Given the description of an element on the screen output the (x, y) to click on. 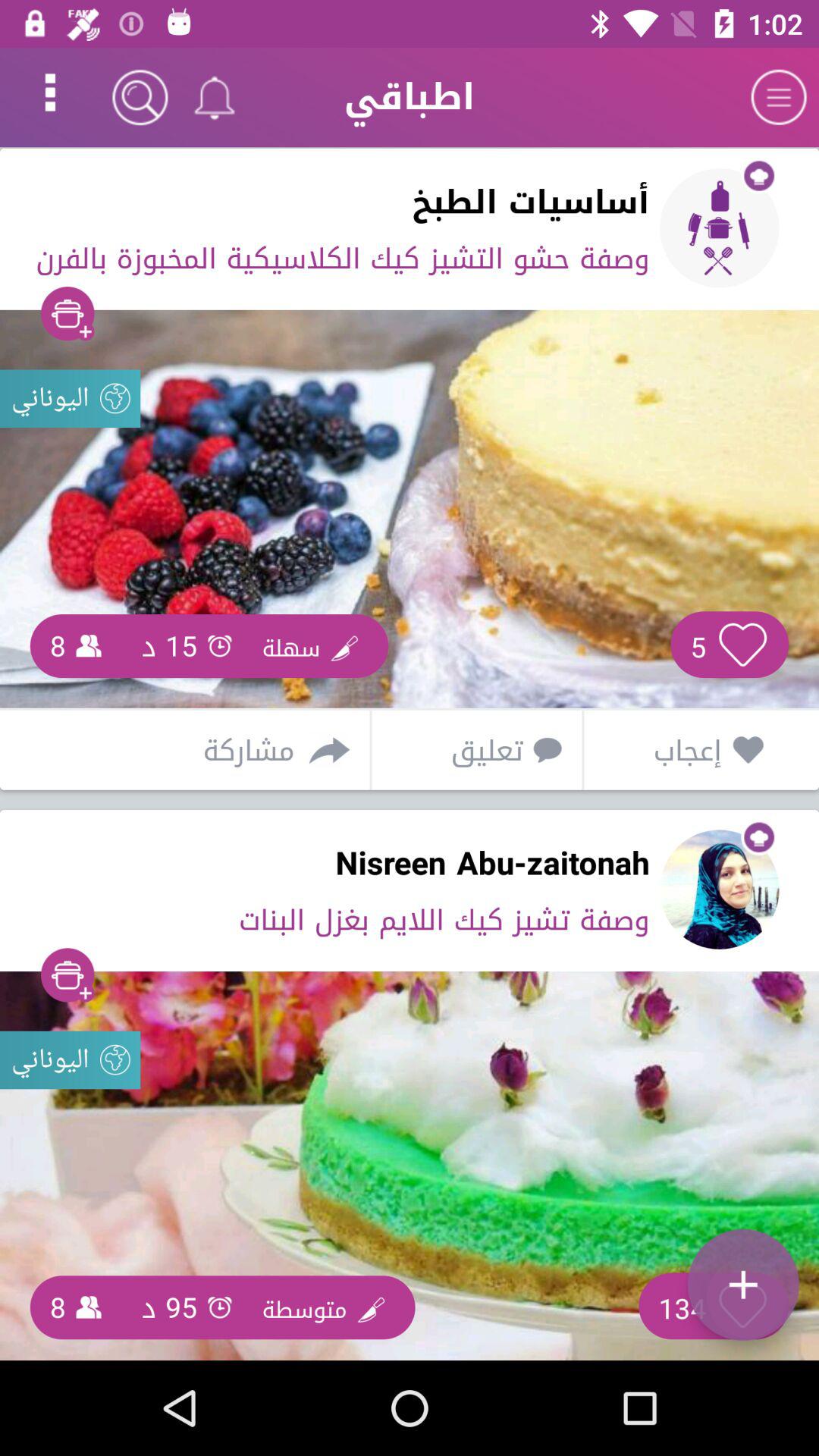
tap item above the nisreen abu-zaitonah (471, 749)
